Given the description of an element on the screen output the (x, y) to click on. 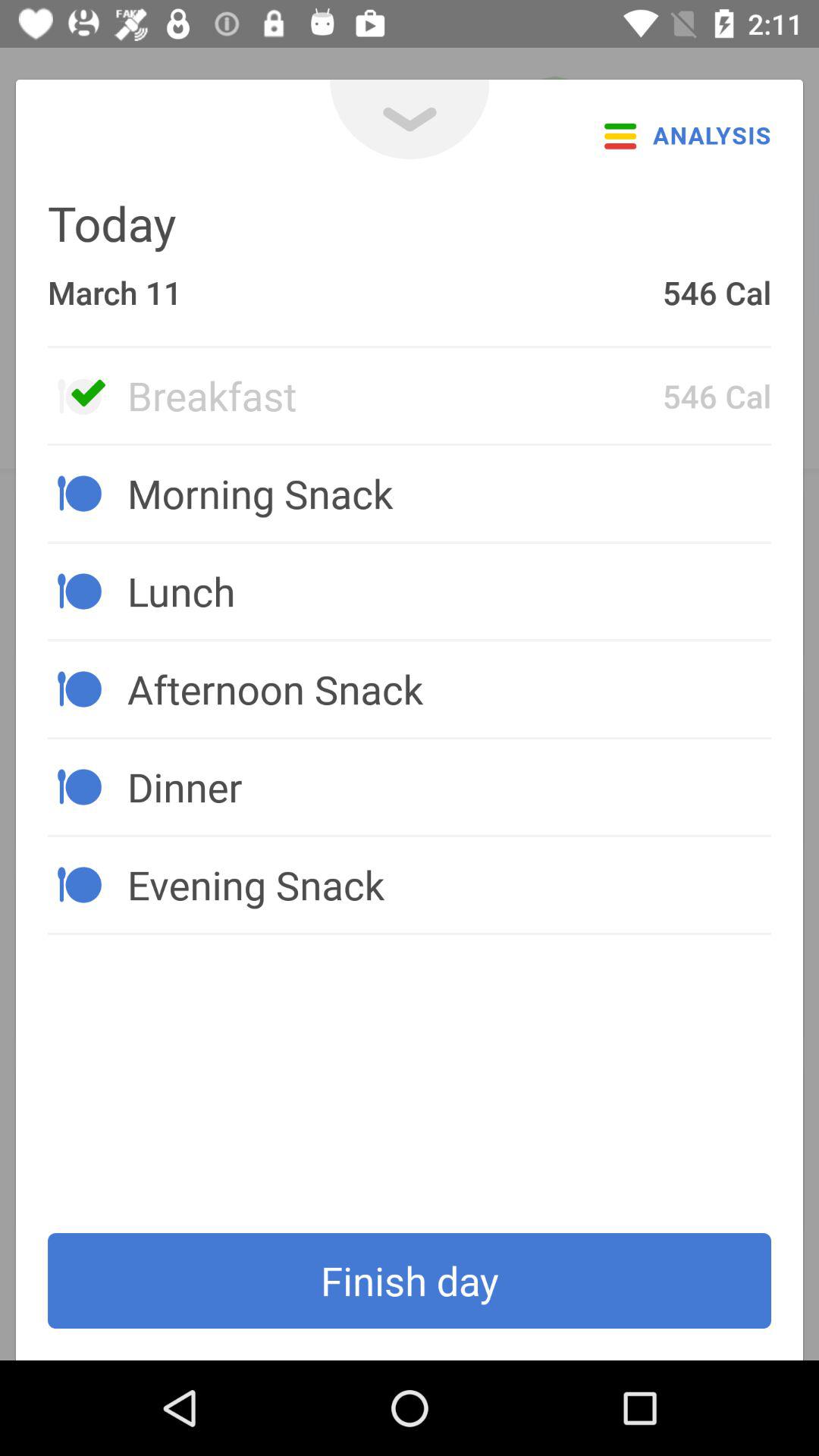
launch the icon above the finish day (449, 884)
